Given the description of an element on the screen output the (x, y) to click on. 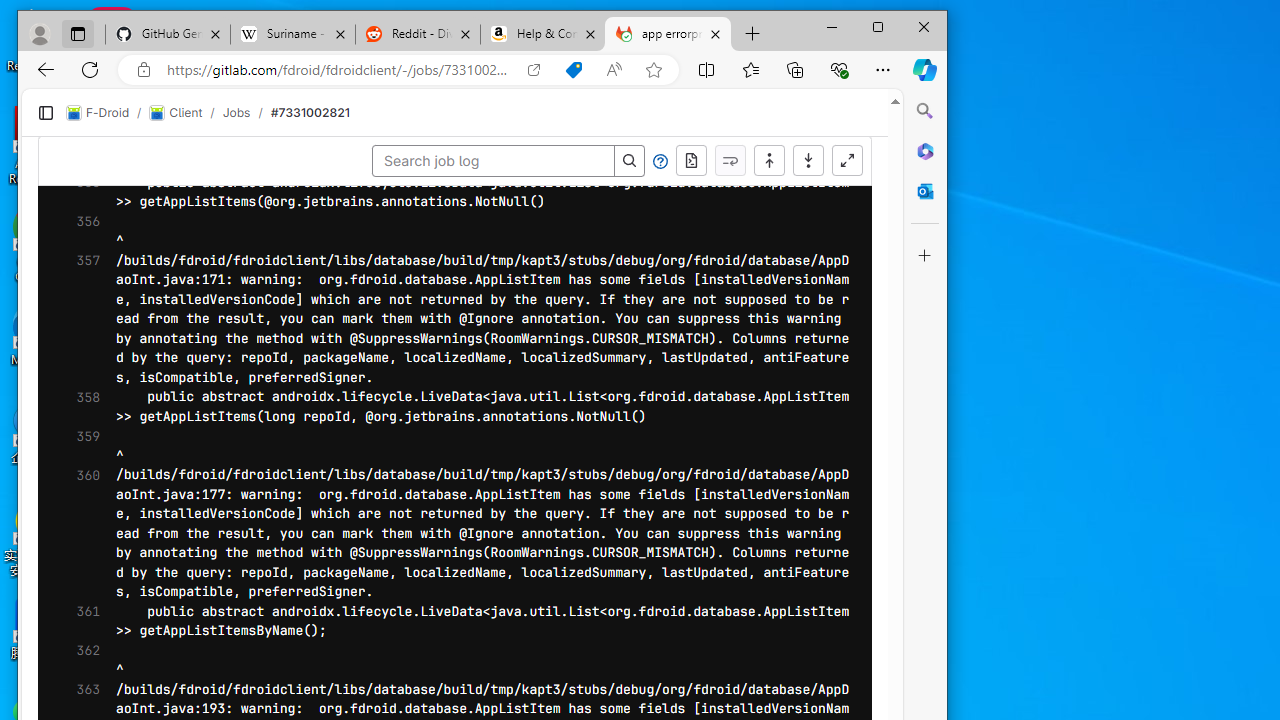
Open in app (534, 69)
Client/ (185, 112)
Show complete raw (690, 160)
Scroll to next failure (730, 160)
Search job log (493, 160)
